Given the description of an element on the screen output the (x, y) to click on. 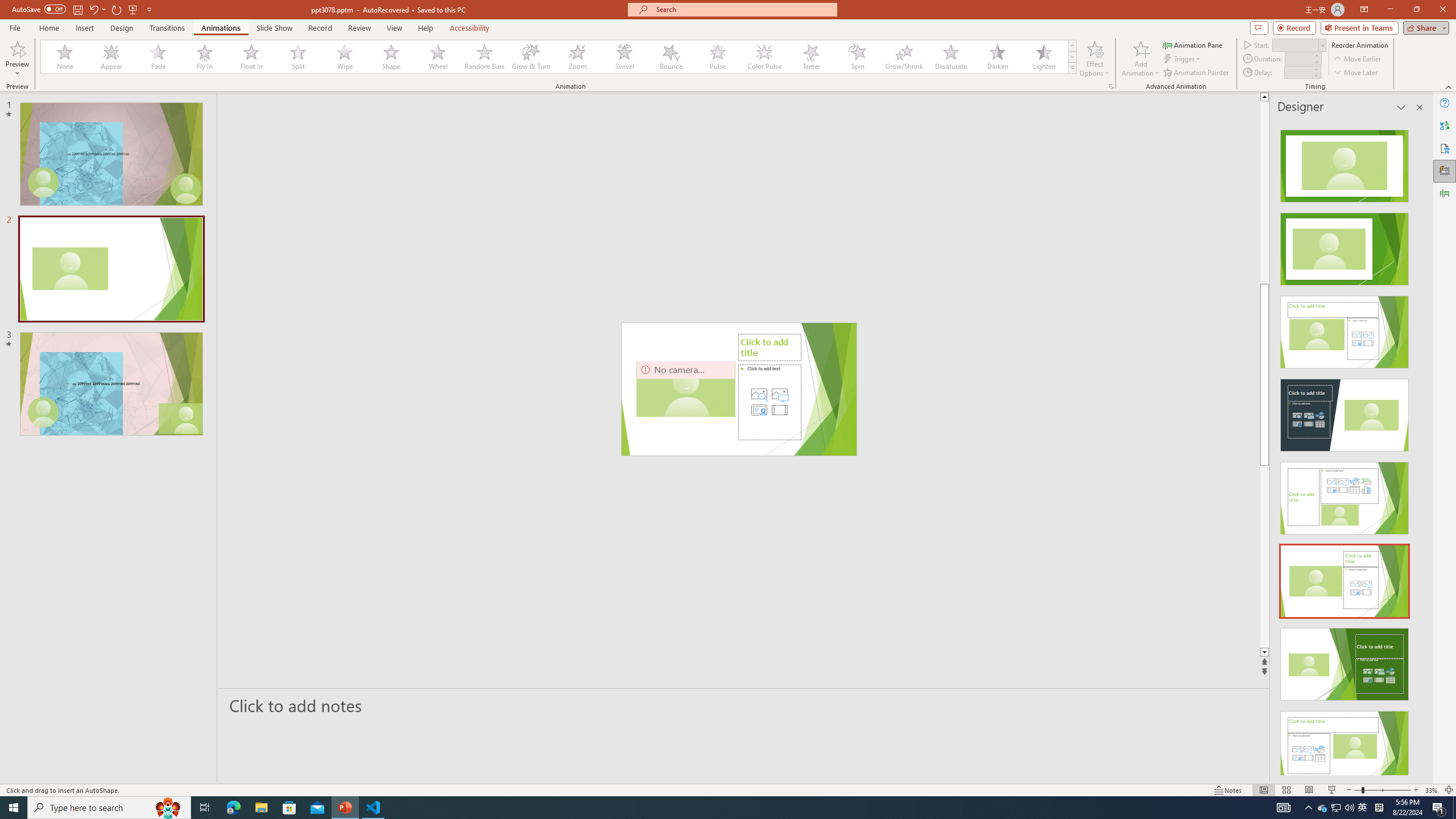
Help (1444, 102)
Darken (997, 56)
Design (122, 28)
Move Later (1355, 72)
Split (298, 56)
AutomationID: AnimationGallery (558, 56)
Review (359, 28)
File Tab (15, 27)
Slide Show (273, 28)
More (1315, 69)
Content Placeholder (769, 402)
Animation Pane (1444, 193)
Pictures (779, 394)
Insert (83, 28)
Fade (158, 56)
